Given the description of an element on the screen output the (x, y) to click on. 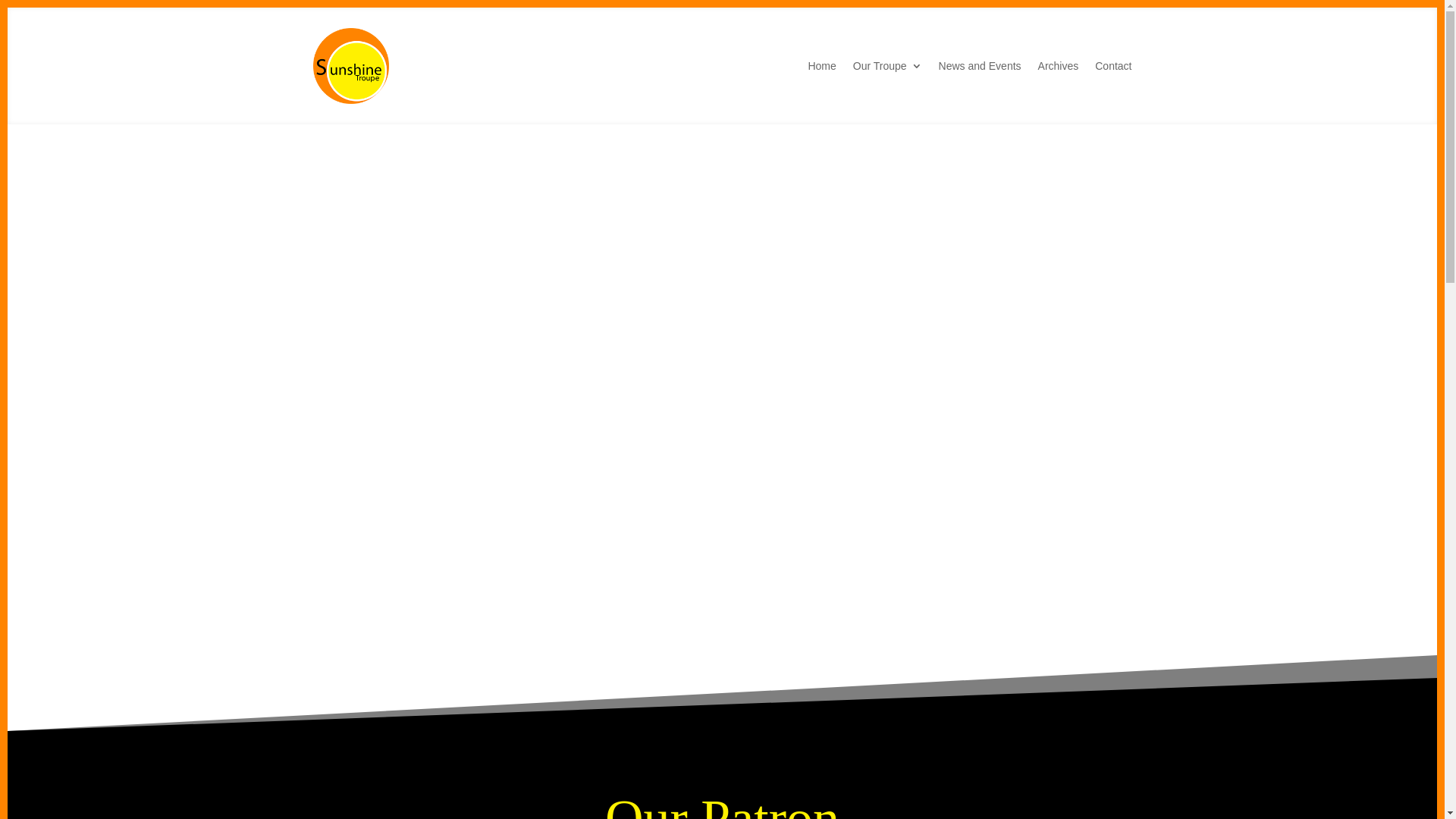
Our Troupe Element type: text (887, 65)
Contact Element type: text (1113, 65)
Home Element type: text (821, 65)
Archives Element type: text (1058, 65)
News and Events Element type: text (979, 65)
